Given the description of an element on the screen output the (x, y) to click on. 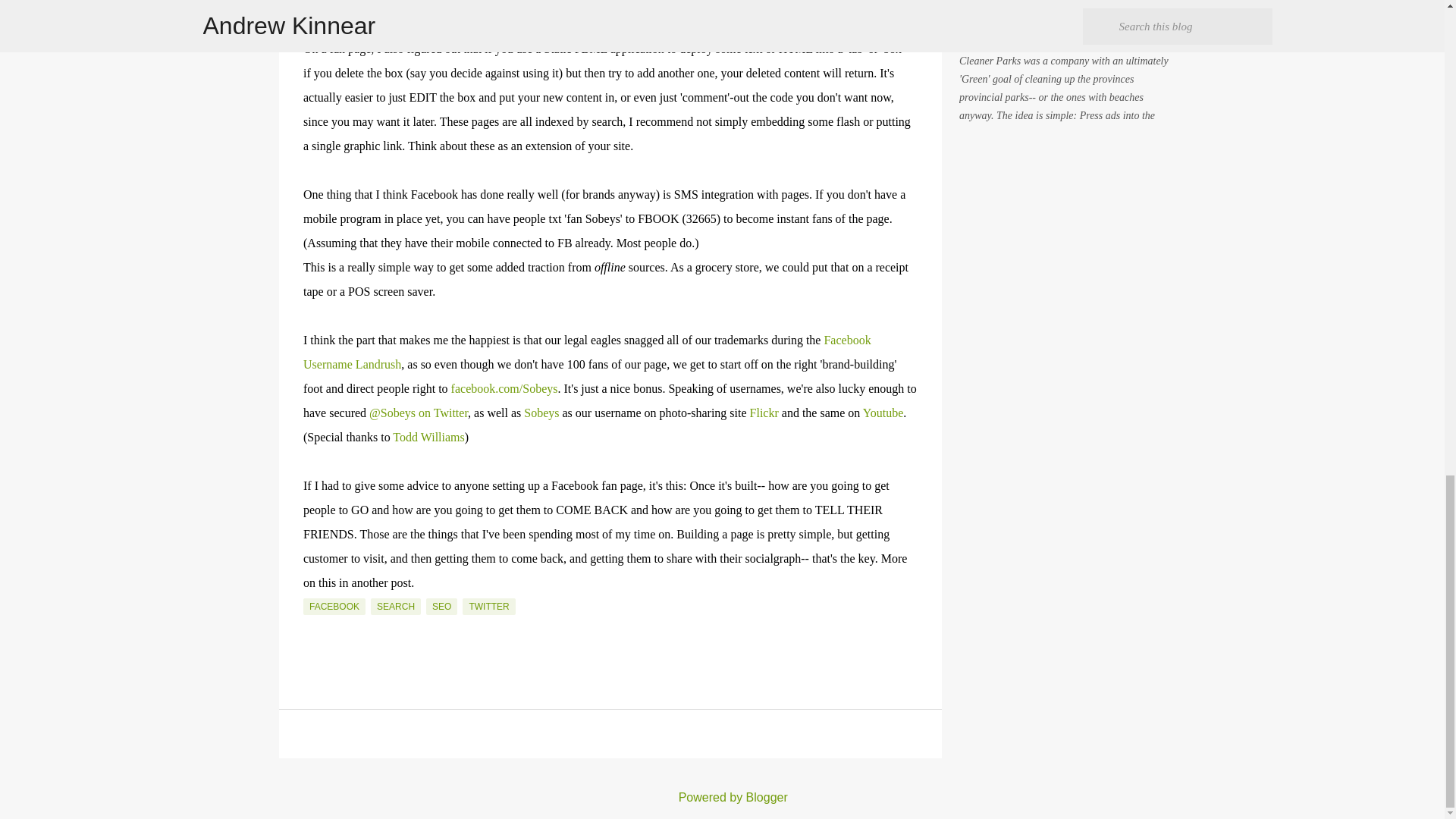
Todd Williams (428, 436)
FACEBOOK (333, 606)
TWITTER (489, 606)
Facebook Username Landrush (586, 352)
Sobeys (541, 412)
SEO (441, 606)
Flickr (763, 412)
SEARCH (395, 606)
Cleaner Parks (992, 30)
Youtube (883, 412)
